Given the description of an element on the screen output the (x, y) to click on. 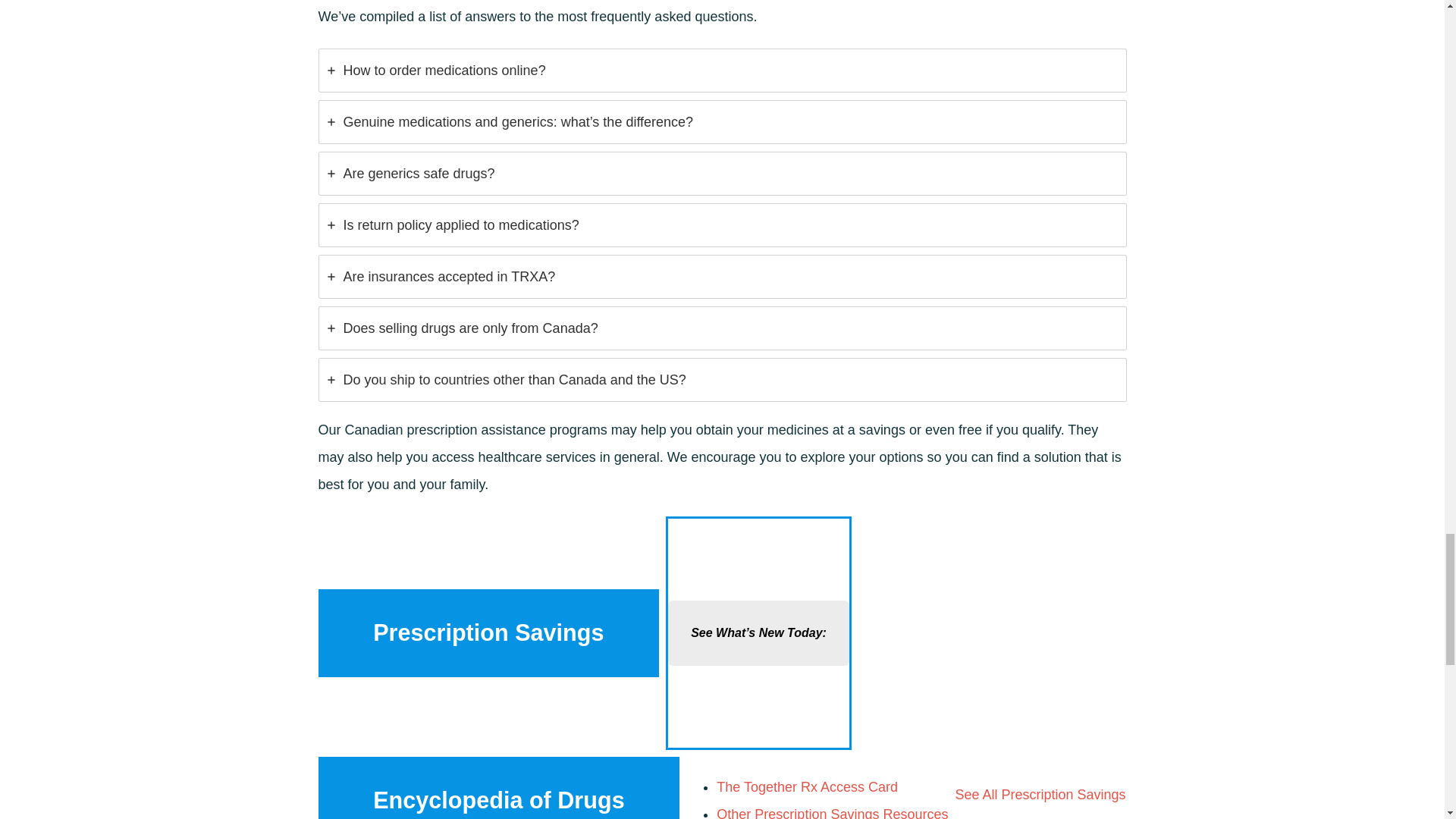
Other Prescription Savings Resources (831, 812)
The Together Rx Access Card (807, 786)
See All Prescription Savings (1040, 794)
